Given the description of an element on the screen output the (x, y) to click on. 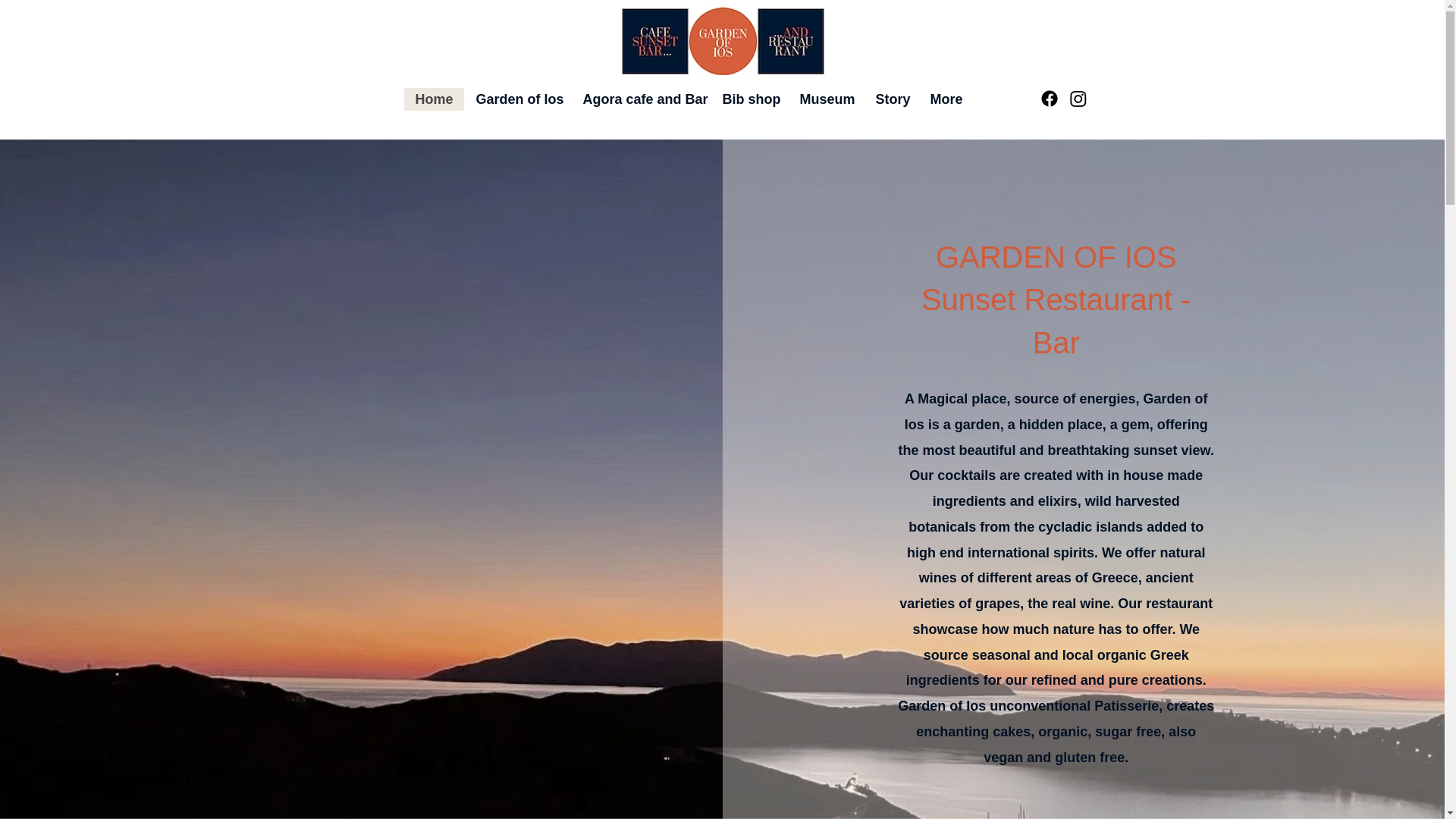
Agora cafe and Bar (640, 98)
Bib shop (1056, 278)
Home (748, 98)
Bar (433, 98)
Garden of Ios (1056, 342)
Museum (517, 98)
